Given the description of an element on the screen output the (x, y) to click on. 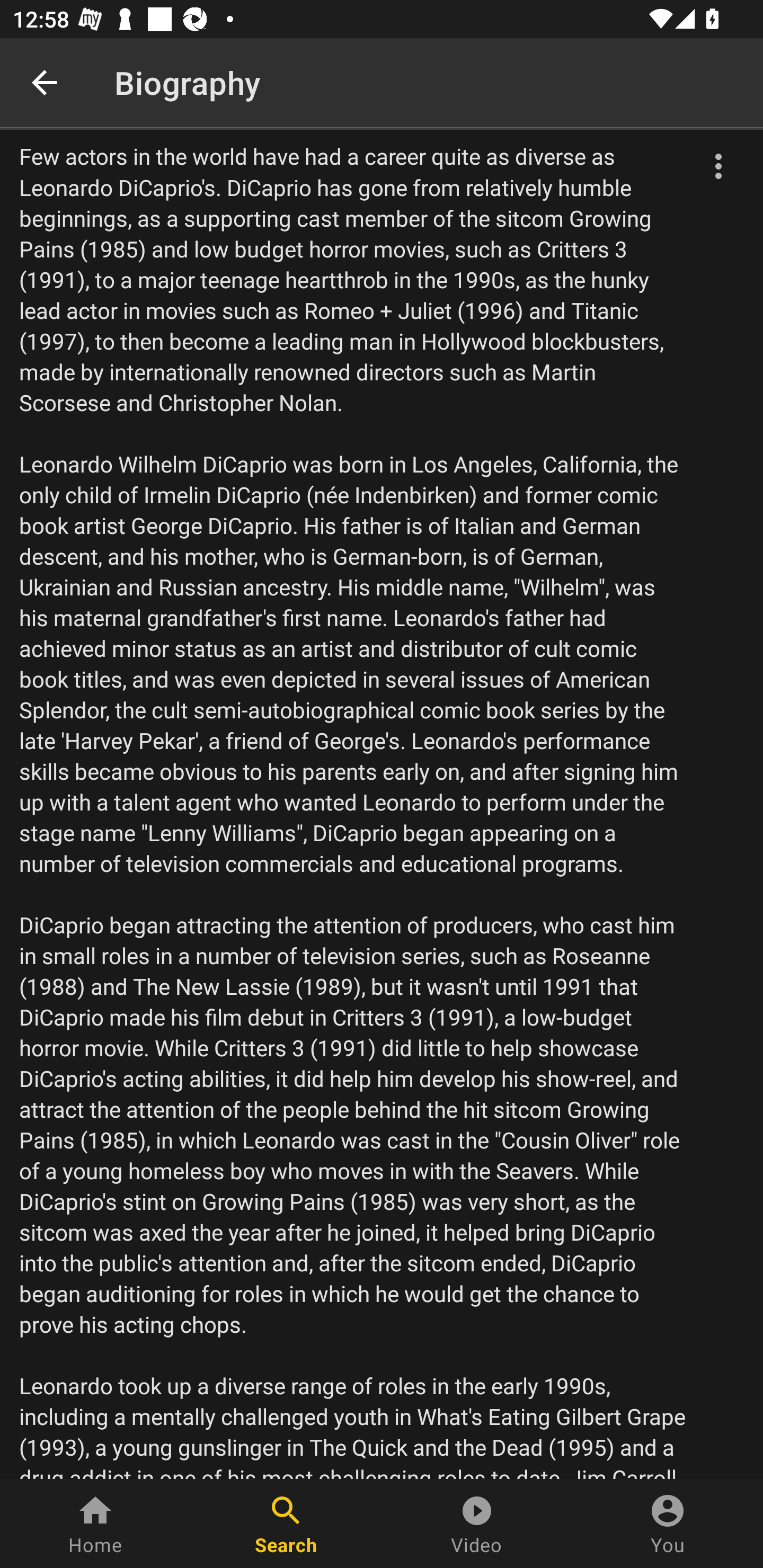
Home (95, 1523)
Video (476, 1523)
You (667, 1523)
